Given the description of an element on the screen output the (x, y) to click on. 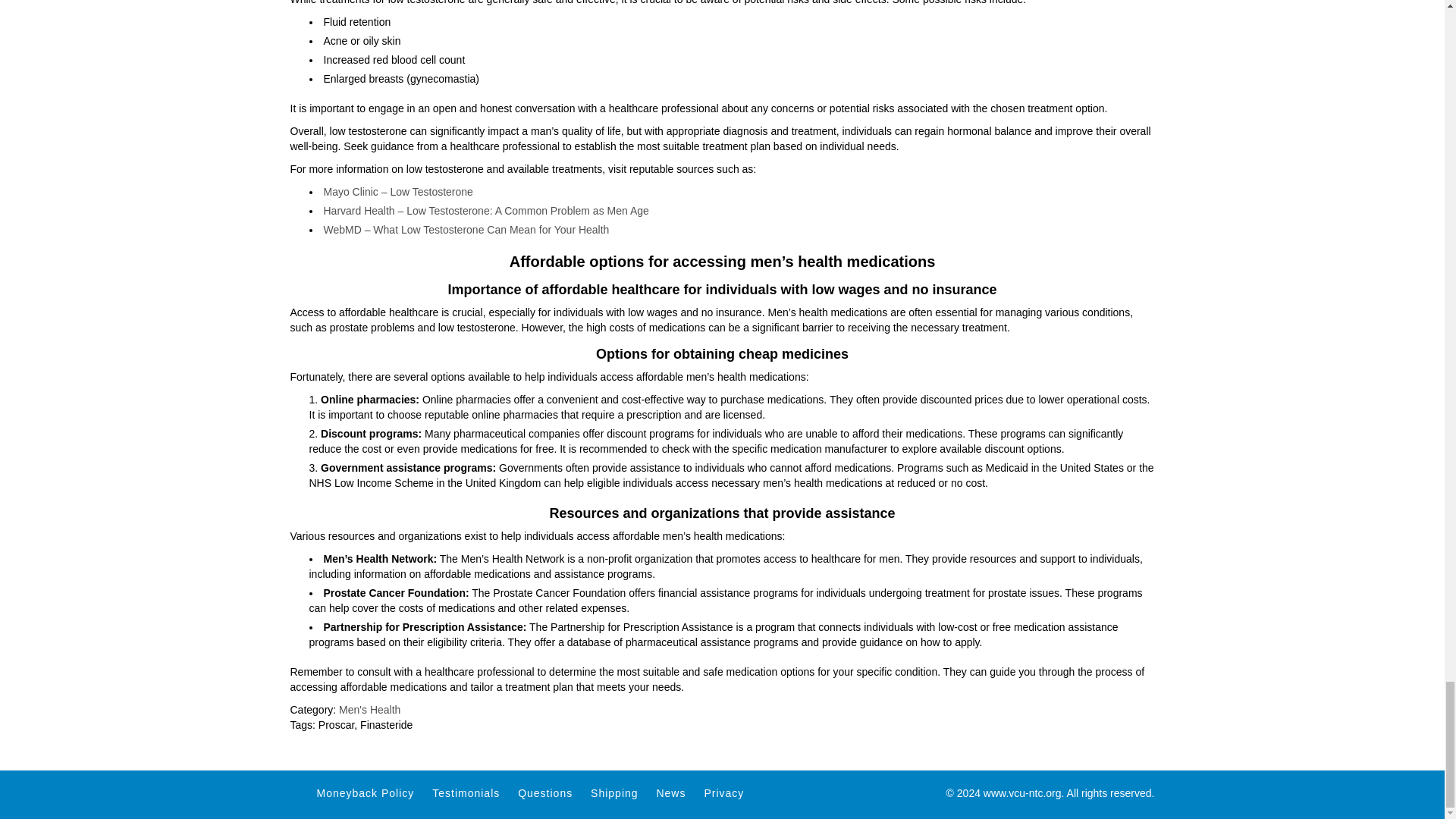
Questions (545, 793)
Men's Health (369, 709)
Shipping (614, 793)
Moneyback Policy (365, 793)
Privacy (723, 793)
News (670, 793)
Testimonials (465, 793)
